Given the description of an element on the screen output the (x, y) to click on. 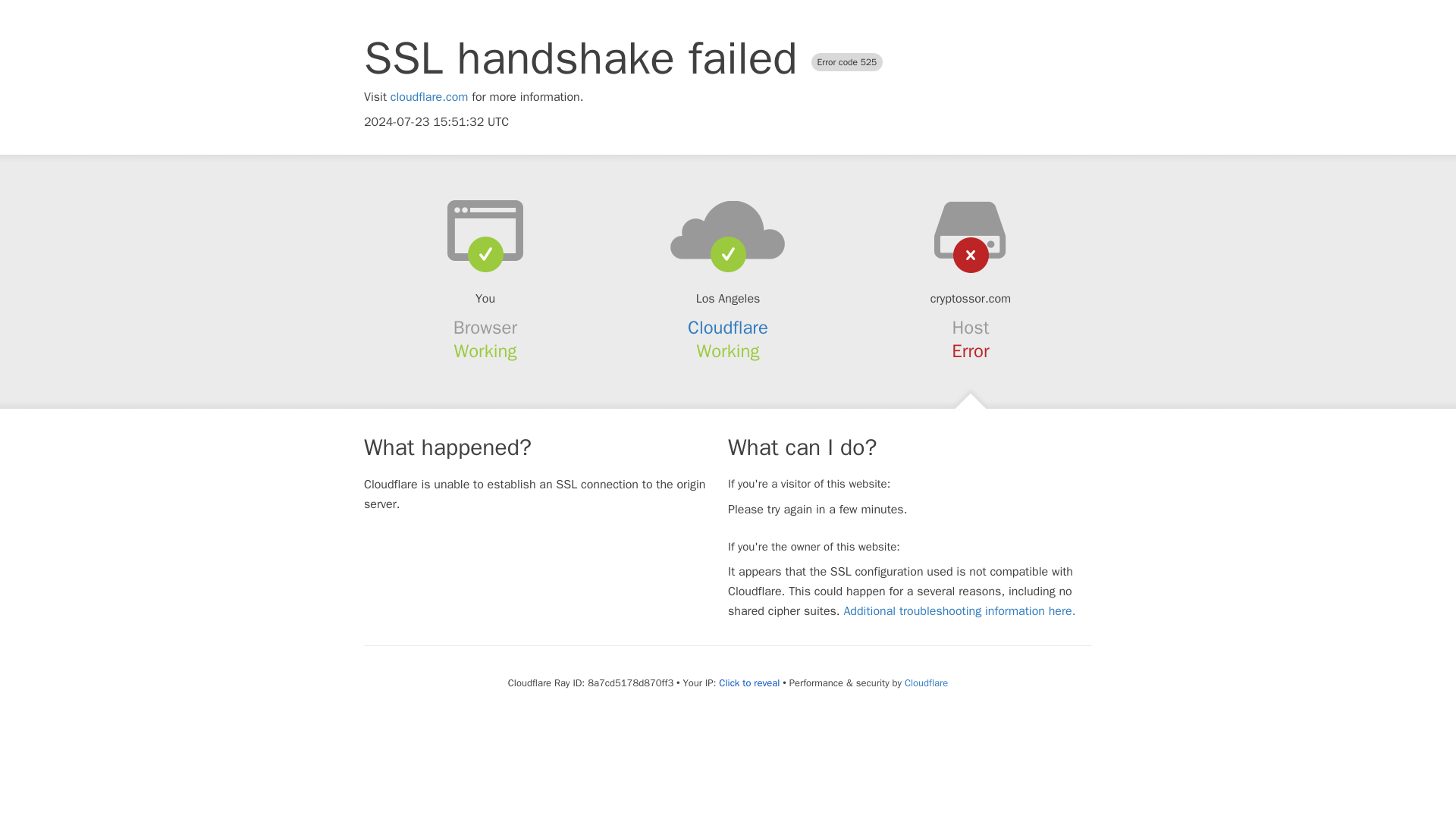
Additional troubleshooting information here. (959, 611)
Click to reveal (748, 683)
Cloudflare (727, 327)
cloudflare.com (429, 96)
Cloudflare (925, 682)
